Given the description of an element on the screen output the (x, y) to click on. 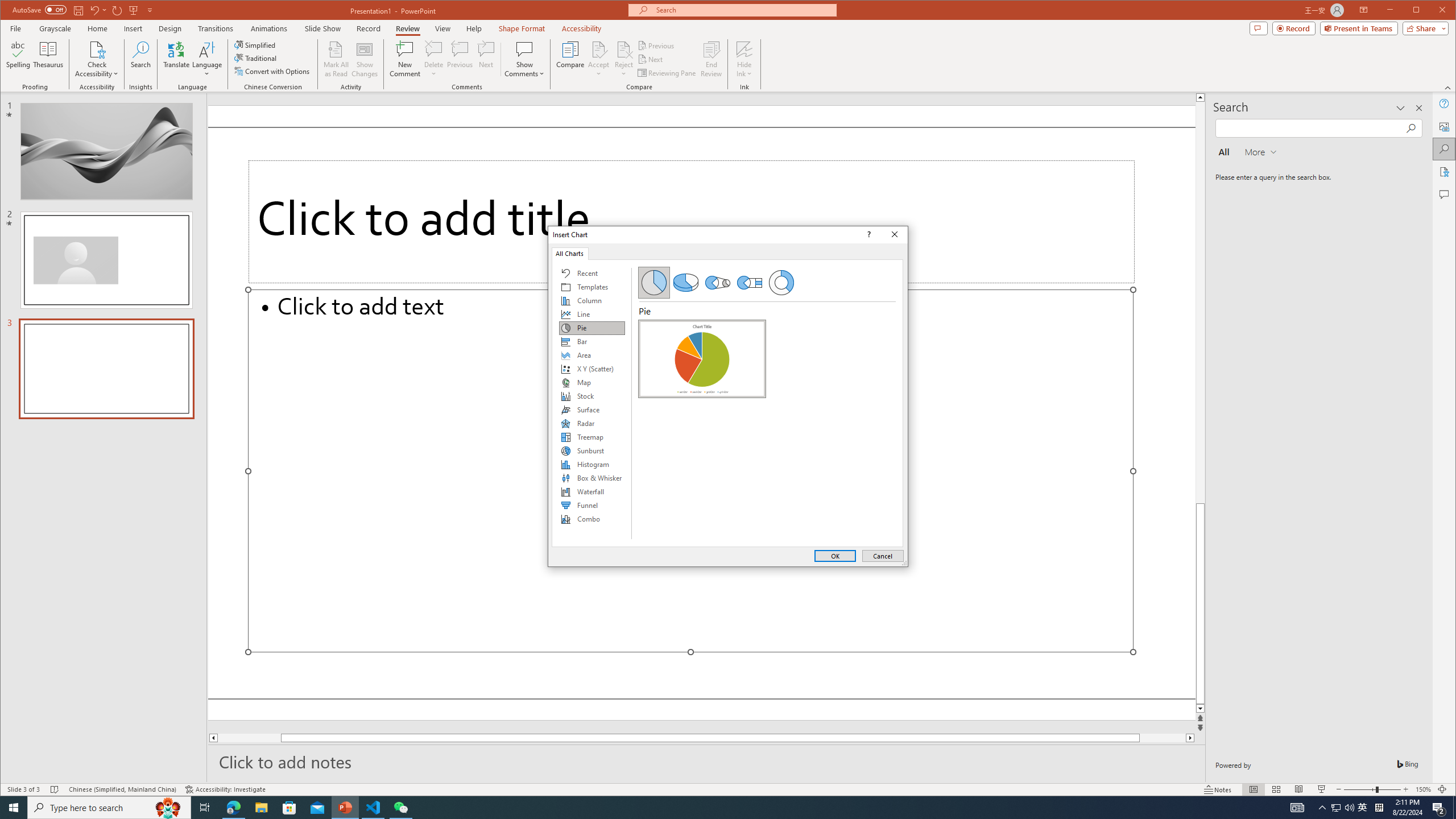
Alt Text (1444, 125)
Sunburst (591, 450)
Area (591, 354)
Maximize (1432, 11)
Page up (1200, 302)
Treemap (591, 436)
